Given the description of an element on the screen output the (x, y) to click on. 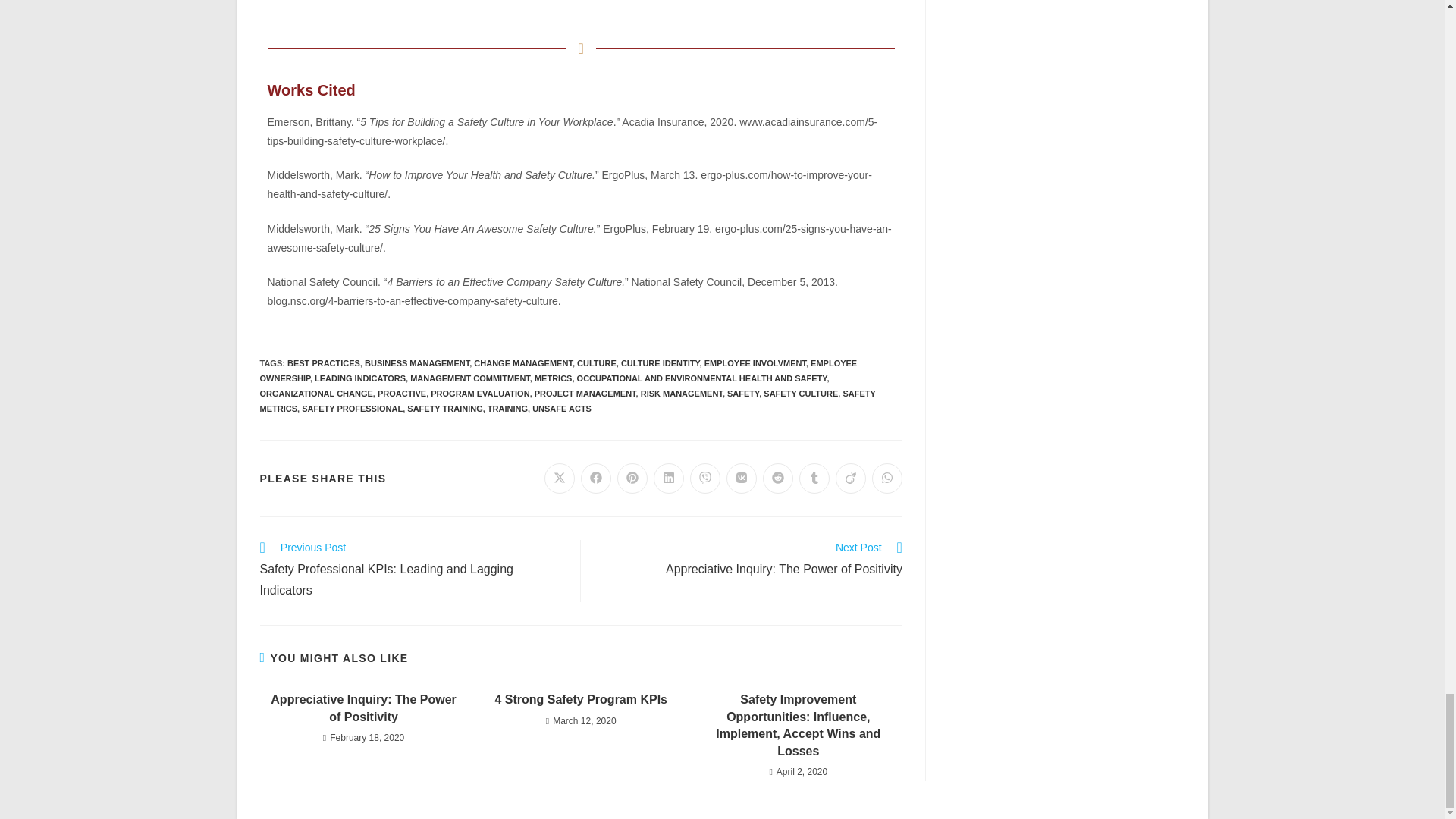
BEST PRACTICES (322, 362)
EMPLOYEE OWNERSHIP (558, 370)
BUSINESS MANAGEMENT (416, 362)
OCCUPATIONAL AND ENVIRONMENTAL HEALTH AND SAFETY (701, 378)
CHANGE MANAGEMENT (523, 362)
ORGANIZATIONAL CHANGE (315, 393)
LEADING INDICATORS (360, 378)
MANAGEMENT COMMITMENT (469, 378)
CULTURE (595, 362)
CULTURE IDENTITY (660, 362)
